Given the description of an element on the screen output the (x, y) to click on. 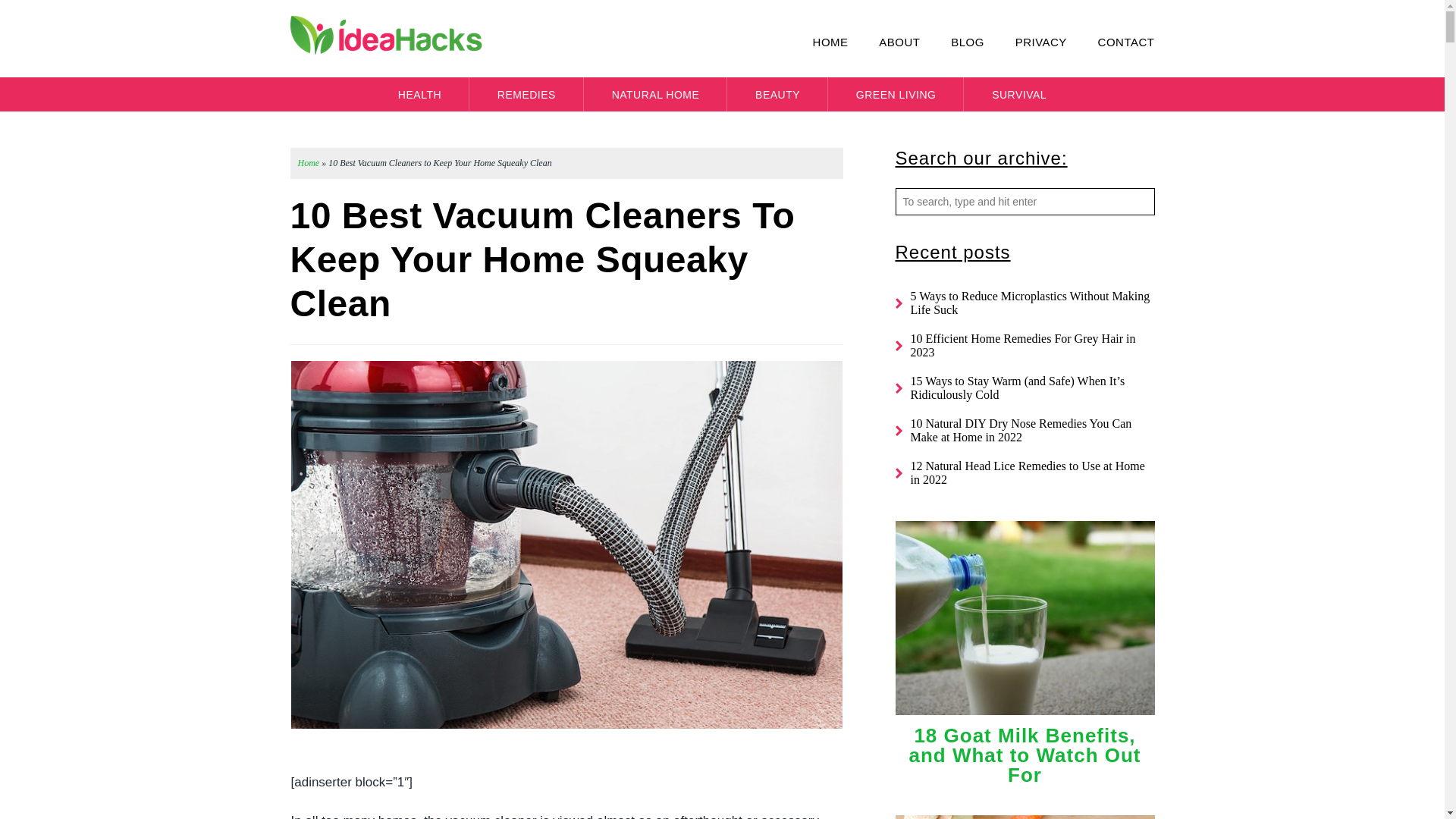
SURVIVAL (1018, 93)
PRIVACY (1027, 42)
Home (307, 163)
18 Goat Milk Benefits, and What to Watch Out For (1024, 754)
REMEDIES (526, 93)
BLOG (953, 42)
GREEN LIVING (895, 93)
ABOUT (885, 42)
CONTACT (1112, 42)
NATURAL HOME (655, 93)
HEALTH (419, 93)
HOME (817, 42)
BEAUTY (777, 93)
